Given the description of an element on the screen output the (x, y) to click on. 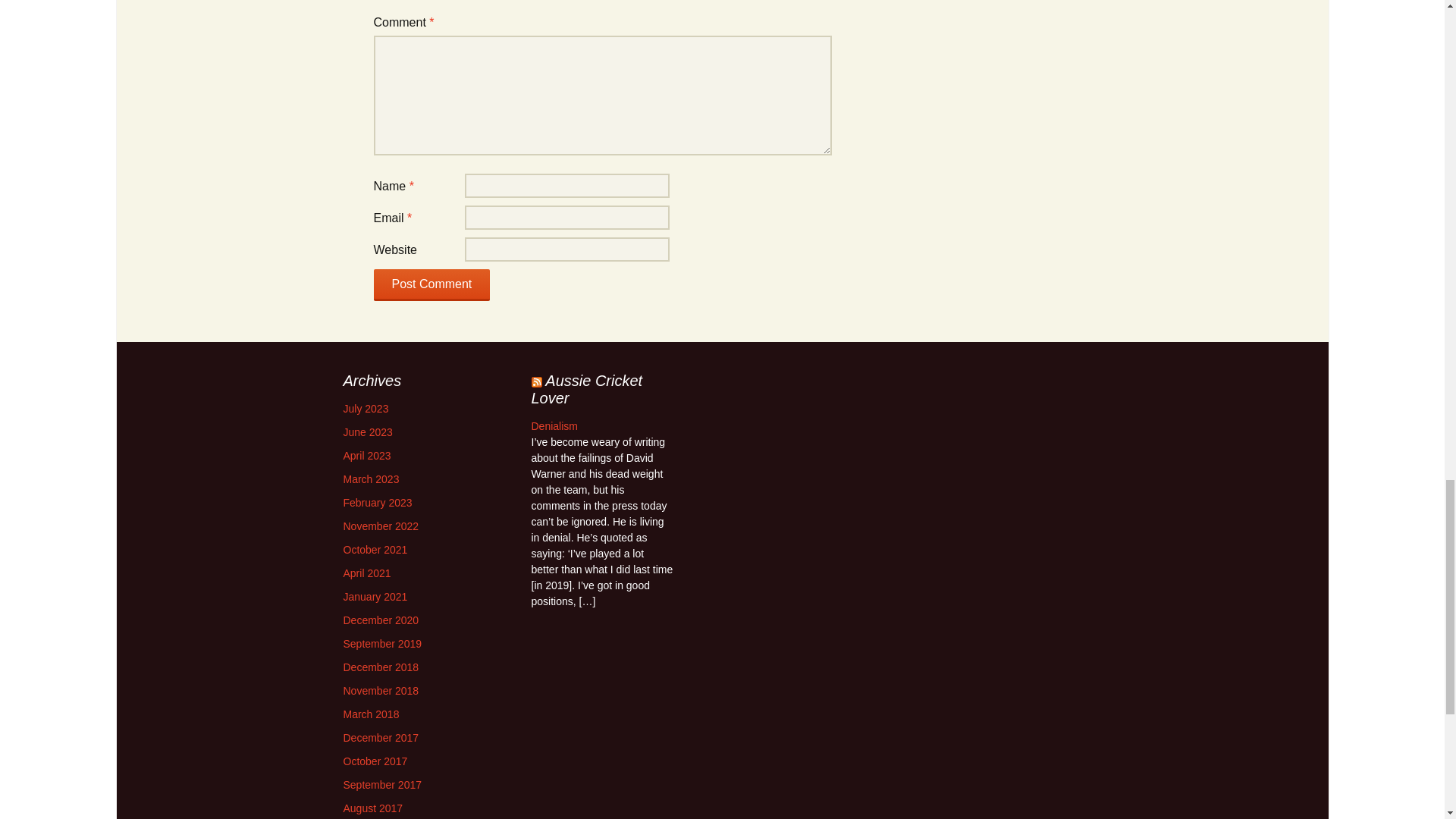
Post Comment (430, 285)
Post Comment (430, 285)
